Given the description of an element on the screen output the (x, y) to click on. 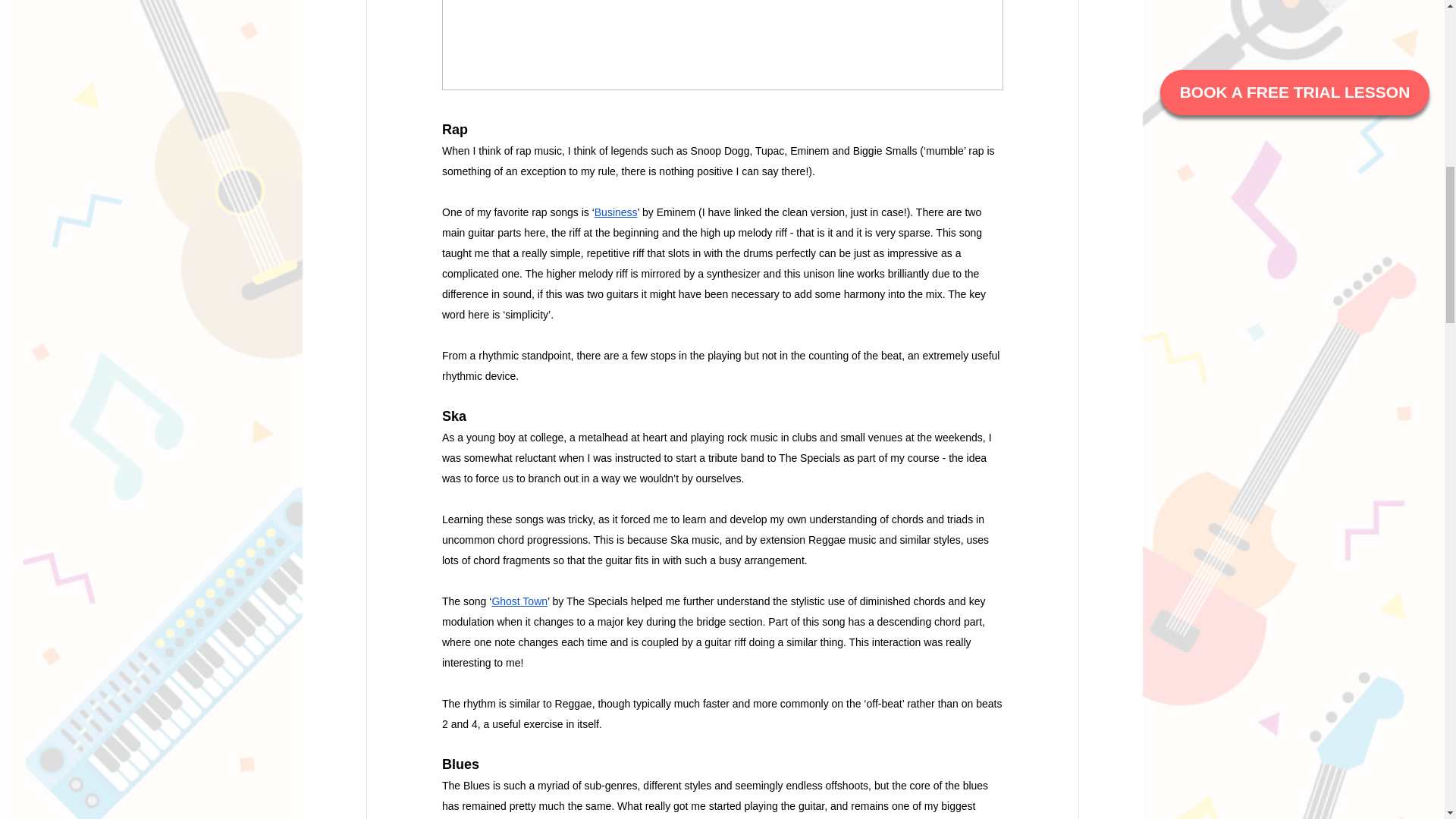
Business (615, 211)
Ghost Town (519, 600)
